Given the description of an element on the screen output the (x, y) to click on. 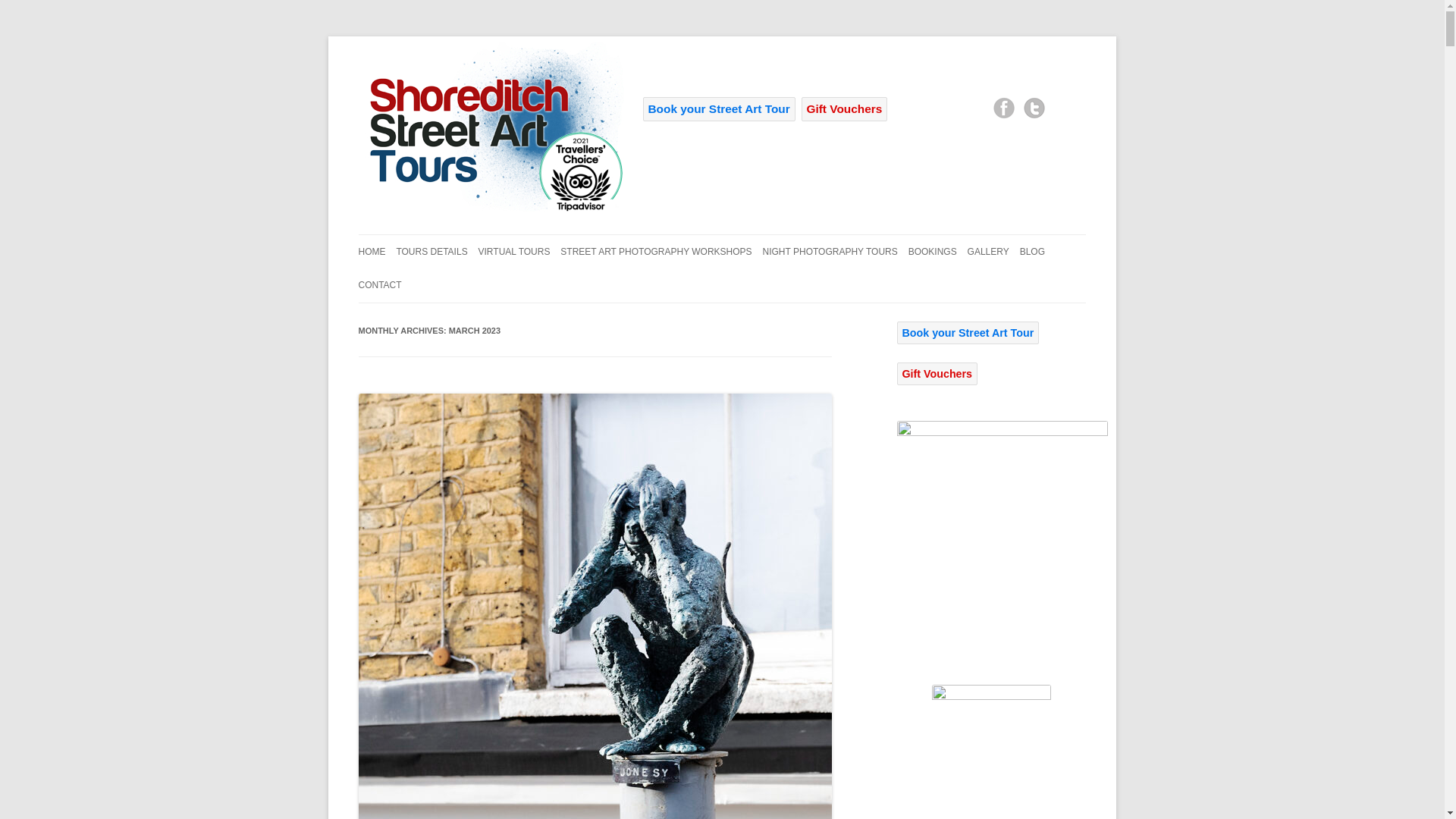
Skip to content (757, 239)
BOOKINGS (932, 251)
Book your Street Art Tour (718, 109)
Gift Vouchers (845, 109)
TOURS DETAILS (431, 251)
Shoreditch Street Art Tours London Street Art Tours (490, 210)
Gift Vouchers (845, 109)
CONTACT (379, 285)
Street Art Photography Tour in London (490, 125)
GALLERY (988, 251)
